Given the description of an element on the screen output the (x, y) to click on. 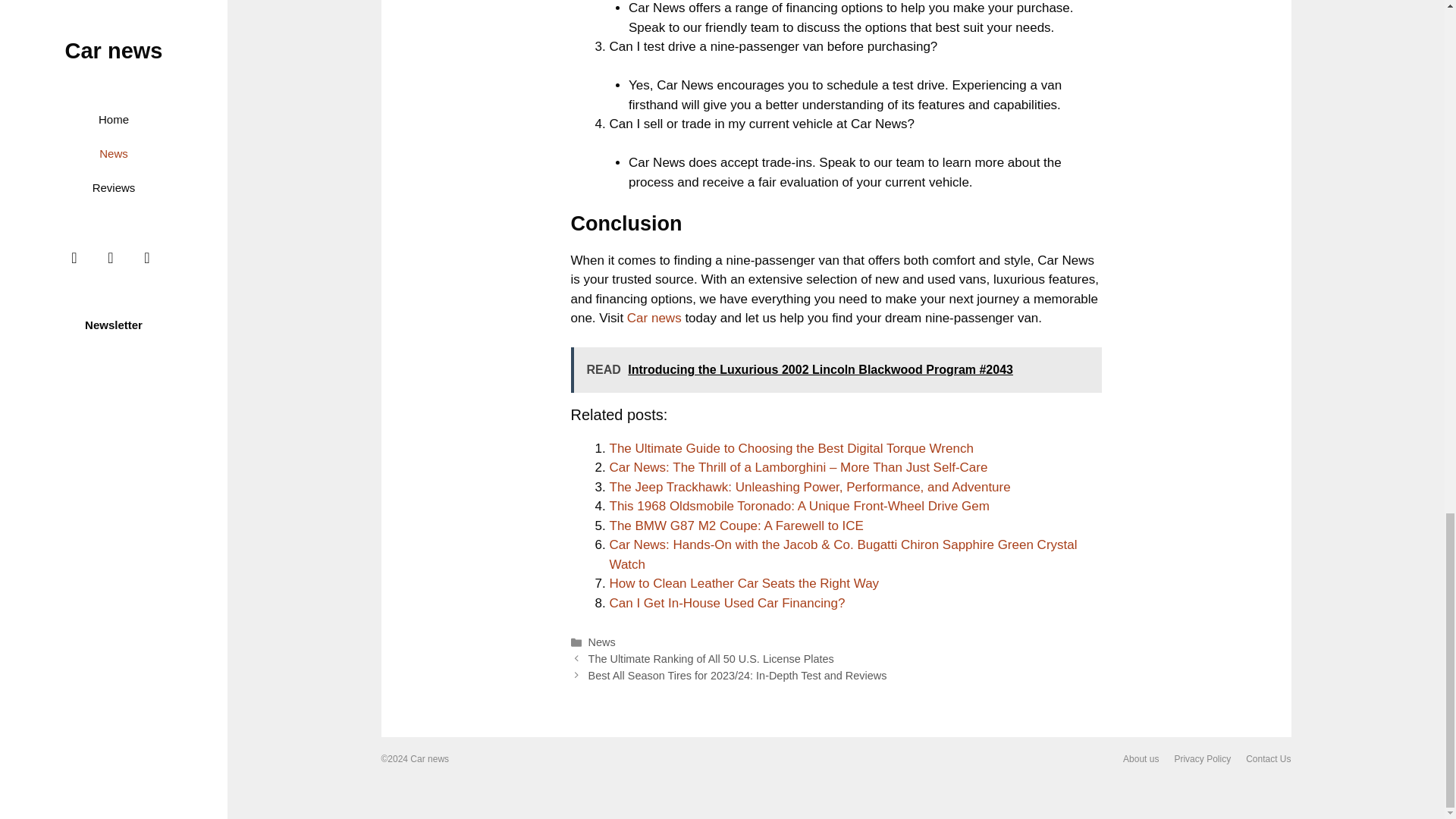
How to Clean Leather Car Seats the Right Way (744, 583)
The Ultimate Ranking of All 50 U.S. License Plates (711, 658)
News (601, 642)
The BMW G87 M2 Coupe: A Farewell to ICE (736, 525)
The BMW G87 M2 Coupe: A Farewell to ICE (736, 525)
How to Clean Leather Car Seats the Right Way (744, 583)
